Given the description of an element on the screen output the (x, y) to click on. 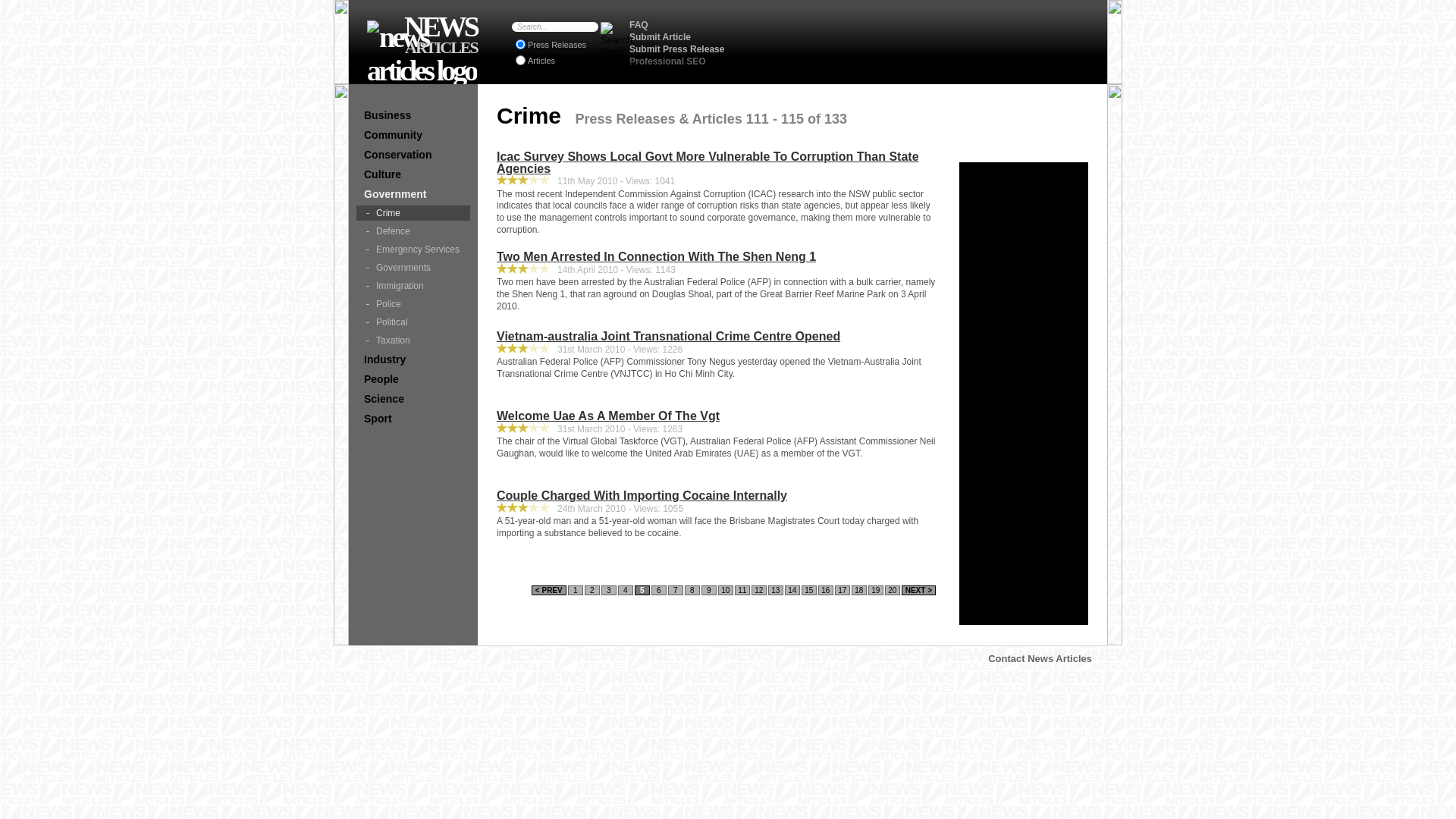
Advertisement Element type: hover (917, 41)
5 Element type: text (641, 590)
11 Element type: text (741, 590)
Search News Articles Element type: hover (616, 44)
3 Star Rating Element type: hover (512, 427)
Political Element type: text (413, 321)
Conservation Element type: text (413, 154)
3 Star Rating Element type: hover (501, 347)
News Articles - Submit Articles and Online Press Releases Element type: hover (421, 53)
3 Star Rating Element type: hover (544, 427)
15 Element type: text (808, 590)
3 Star Rating Element type: hover (544, 179)
3 Star Rating Element type: hover (501, 427)
3 Element type: text (608, 590)
17 Element type: text (842, 590)
Submit Article Element type: text (659, 36)
FAQ Element type: text (638, 24)
3 Star Rating Element type: hover (512, 347)
3 Star Rating Element type: hover (512, 179)
3 Star Rating Element type: hover (533, 268)
Advertisement Element type: hover (1023, 393)
Governments Element type: text (413, 267)
20 Element type: text (892, 590)
3 Star Rating Element type: hover (544, 347)
Sport Element type: text (413, 418)
Immigration Element type: text (413, 285)
Culture Element type: text (413, 174)
Business Element type: text (413, 114)
3 Star Rating Element type: hover (533, 507)
3 Star Rating Element type: hover (501, 268)
Welcome Uae As A Member Of The Vgt Element type: text (716, 416)
Defence Element type: text (413, 230)
3 Star Rating Element type: hover (533, 427)
Science Element type: text (413, 398)
3 Star Rating Element type: hover (501, 507)
3 Star Rating Element type: hover (544, 507)
14 Element type: text (792, 590)
9 Element type: text (708, 590)
Emergency Services Element type: text (413, 249)
10 Element type: text (725, 590)
19 Element type: text (875, 590)
3 Star Rating Element type: hover (522, 268)
3 Star Rating Element type: hover (512, 268)
3 Star Rating Element type: hover (522, 179)
Submit Press Release Element type: text (676, 48)
3 Star Rating Element type: hover (501, 179)
Vietnam-australia Joint Transnational Crime Centre Opened Element type: text (716, 336)
People Element type: text (413, 378)
NEXT > Element type: text (918, 590)
6 Element type: text (658, 590)
4 Element type: text (625, 590)
16 Element type: text (825, 590)
7 Element type: text (675, 590)
Industry Element type: text (413, 359)
18 Element type: text (858, 590)
< PREV Element type: text (548, 590)
3 Star Rating Element type: hover (512, 507)
Two Men Arrested In Connection With The Shen Neng 1 Element type: text (716, 257)
2 Element type: text (591, 590)
Professional SEO Element type: text (667, 61)
13 Element type: text (775, 590)
3 Star Rating Element type: hover (533, 347)
3 Star Rating Element type: hover (522, 347)
3 Star Rating Element type: hover (522, 507)
Police Element type: text (413, 303)
Crime Element type: text (413, 212)
Government Element type: text (413, 193)
3 Star Rating Element type: hover (533, 179)
Couple Charged With Importing Cocaine Internally Element type: text (716, 495)
Contact News Articles Element type: text (1040, 658)
1 Element type: text (575, 590)
3 Star Rating Element type: hover (522, 427)
Taxation Element type: text (413, 340)
8 Element type: text (691, 590)
Community Element type: text (413, 134)
12 Element type: text (758, 590)
3 Star Rating Element type: hover (544, 268)
